Given the description of an element on the screen output the (x, y) to click on. 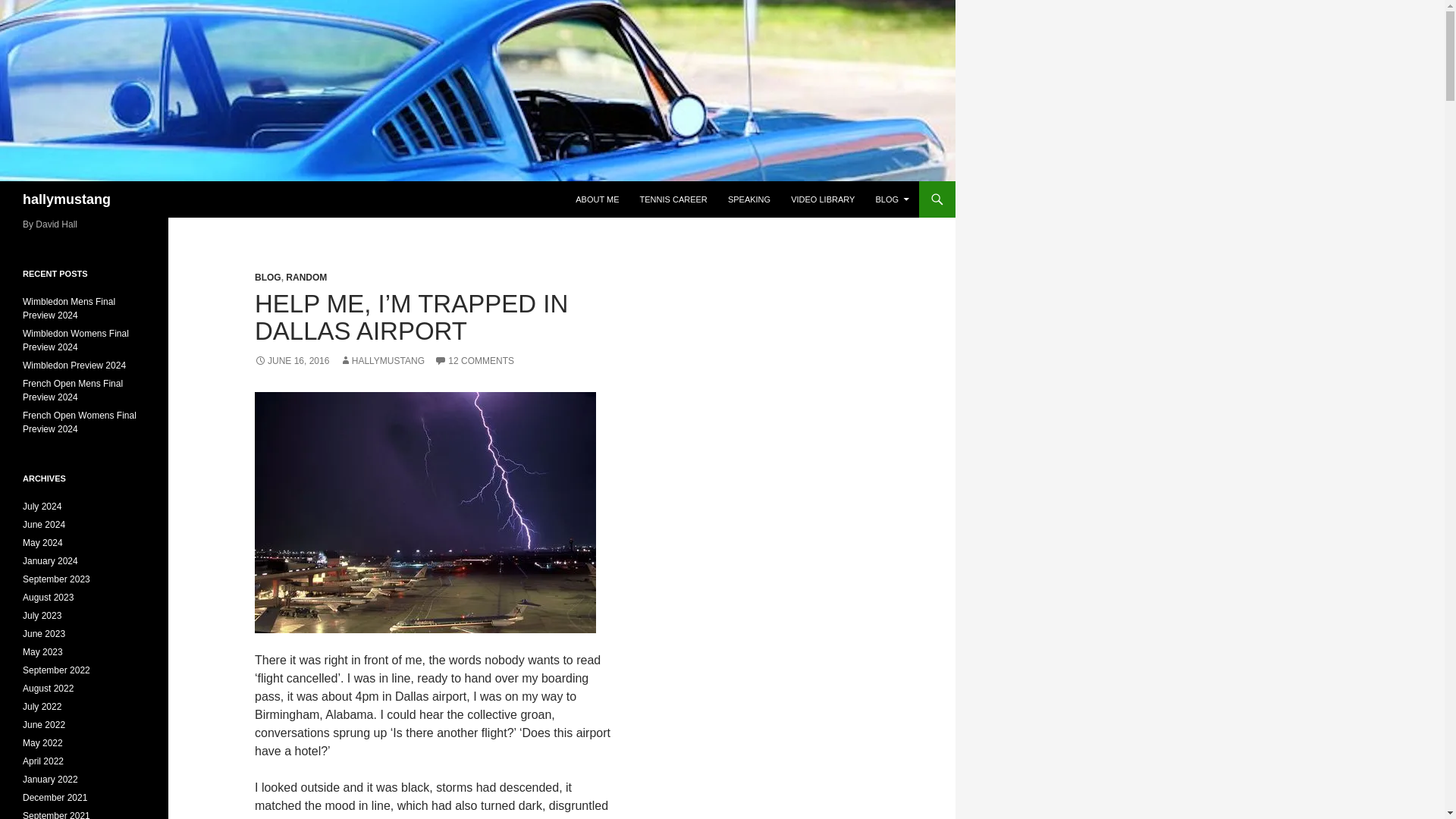
BLOG (267, 276)
12 COMMENTS (473, 360)
BLOG (892, 198)
JUNE 16, 2016 (291, 360)
RANDOM (305, 276)
TENNIS CAREER (673, 198)
HALLYMUSTANG (382, 360)
hallymustang (66, 198)
VIDEO LIBRARY (822, 198)
ABOUT ME (596, 198)
SPEAKING (748, 198)
